Given the description of an element on the screen output the (x, y) to click on. 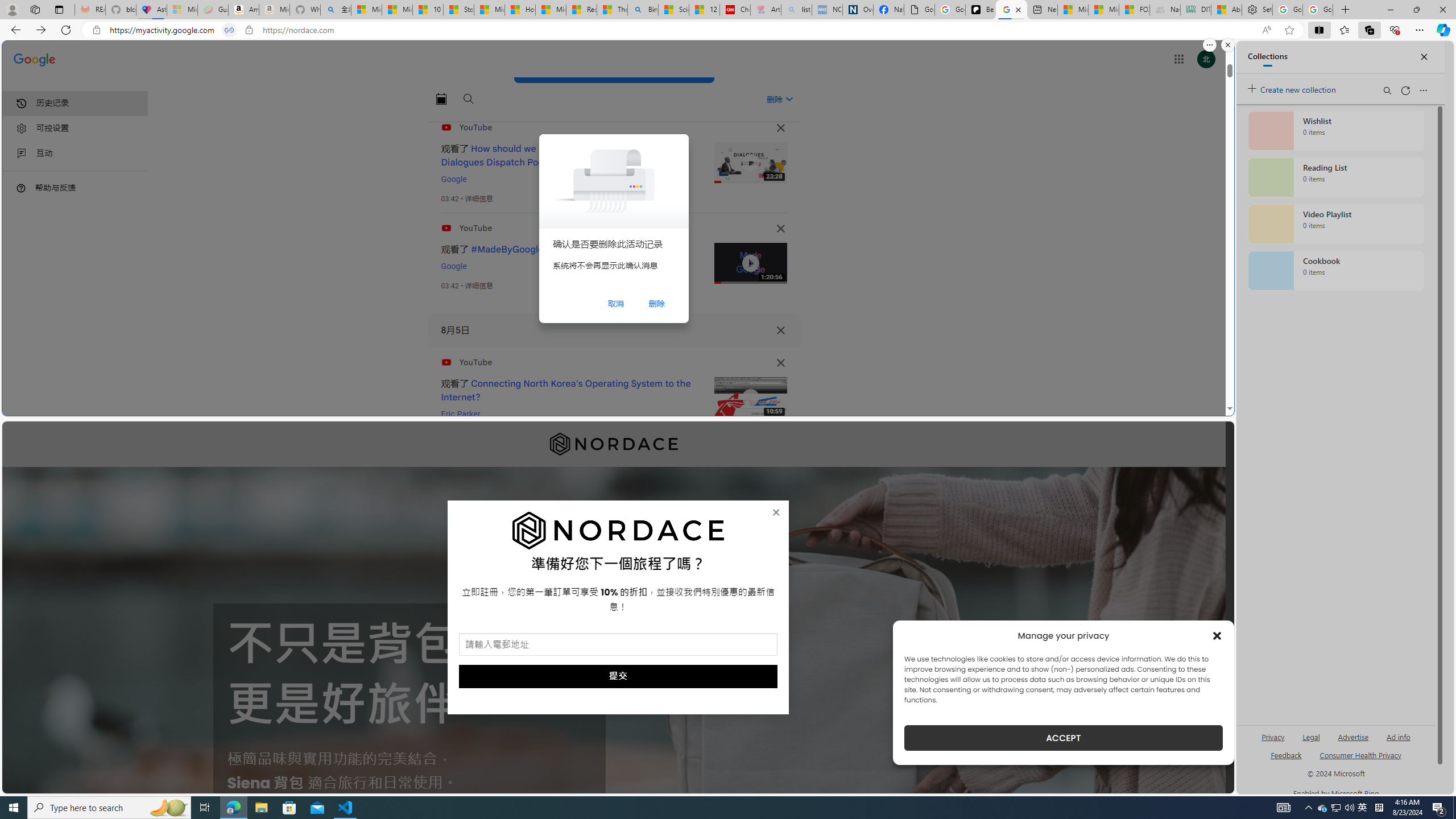
Class: DTiKkd NMm5M (21, 188)
FOX News - MSN (1133, 9)
Google Analytics Opt-out Browser Add-on Download Page (919, 9)
More options. (1209, 45)
